Given the description of an element on the screen output the (x, y) to click on. 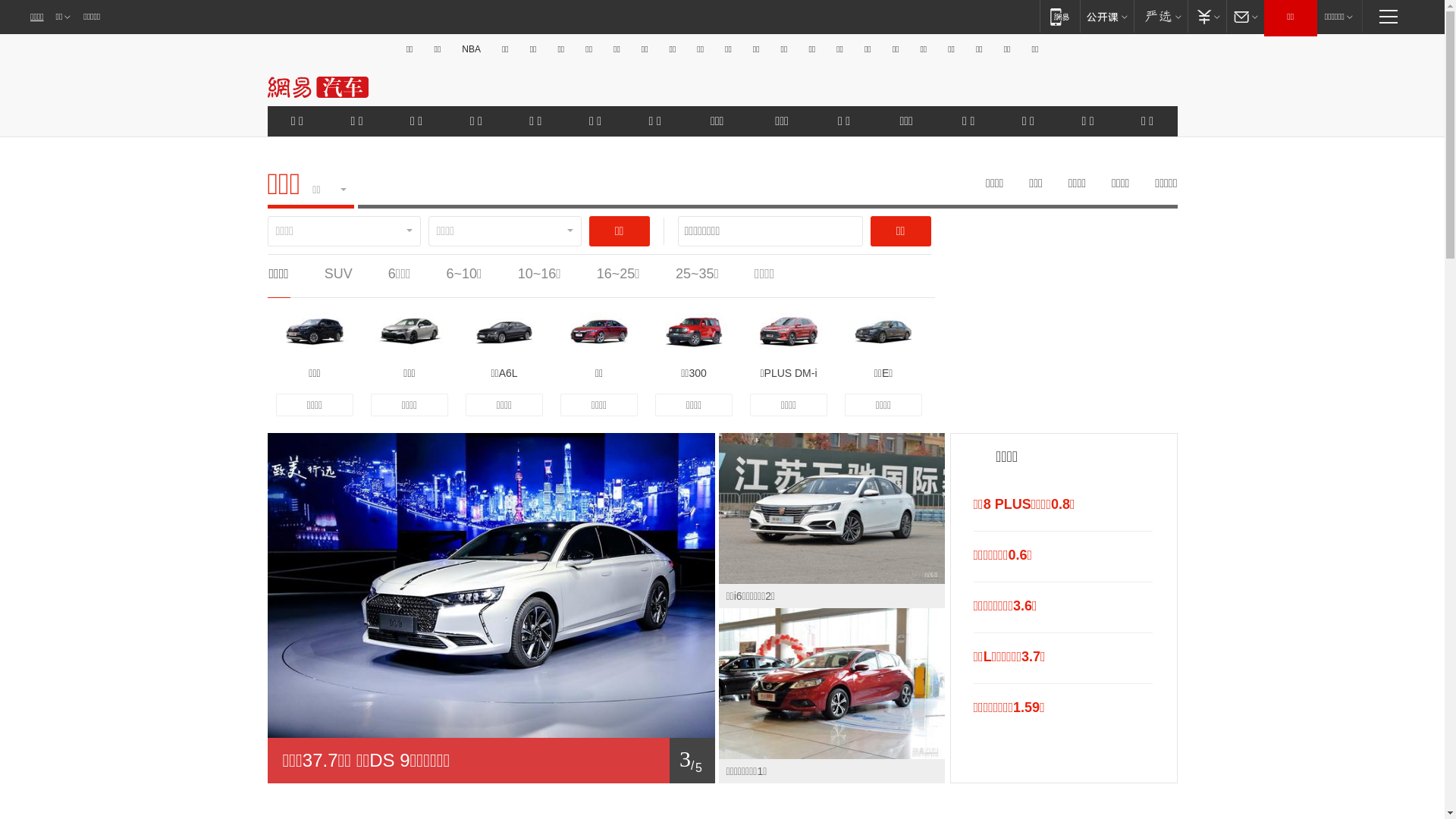
NBA Element type: text (471, 48)
1/ 5 Element type: text (490, 760)
SUV Element type: text (338, 273)
